Given the description of an element on the screen output the (x, y) to click on. 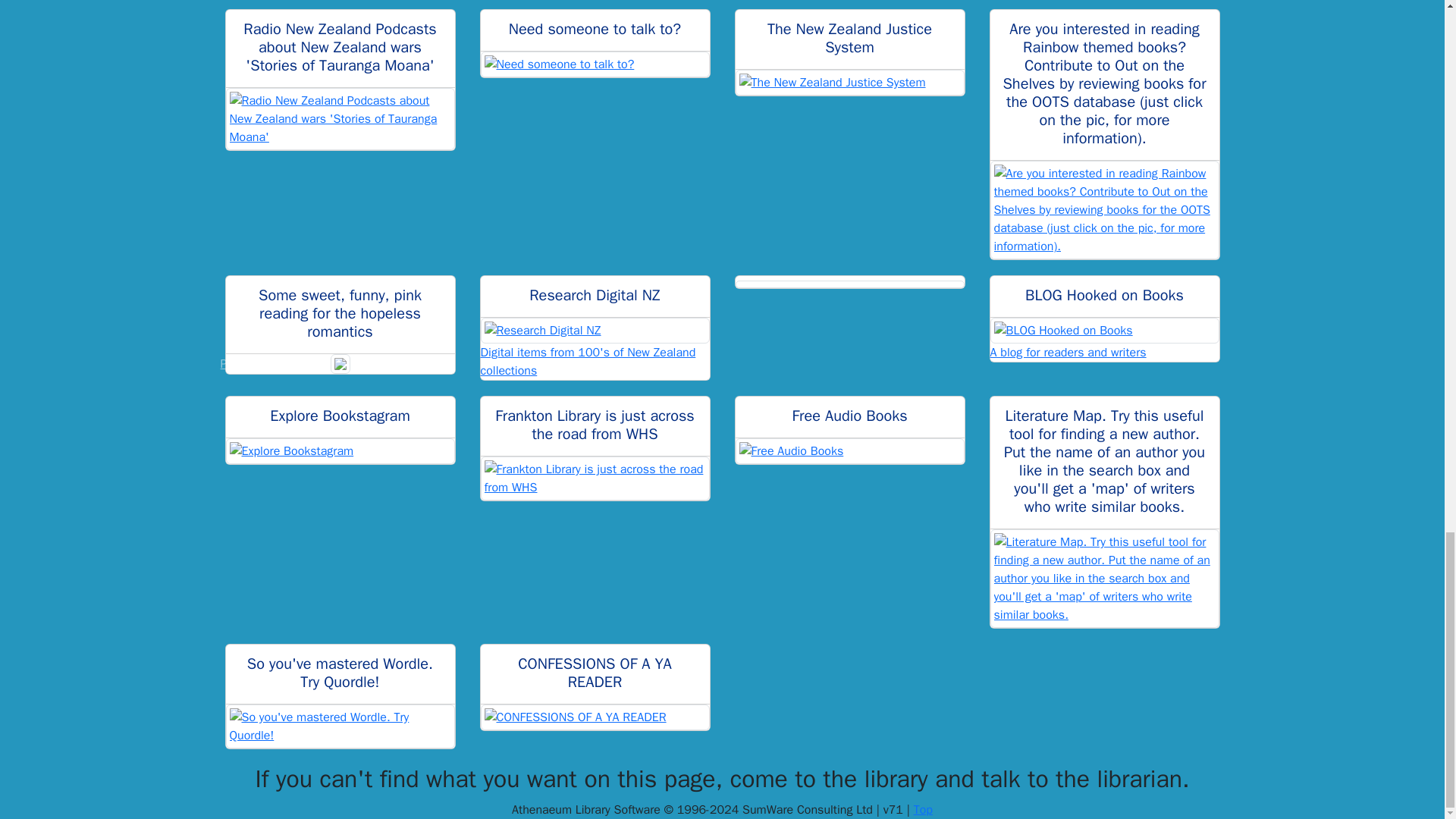
A blog for readers and writers (1105, 339)
Top (923, 809)
Next (437, 363)
Digital items from 100's of New Zealand collections (595, 348)
Previous (242, 363)
